Given the description of an element on the screen output the (x, y) to click on. 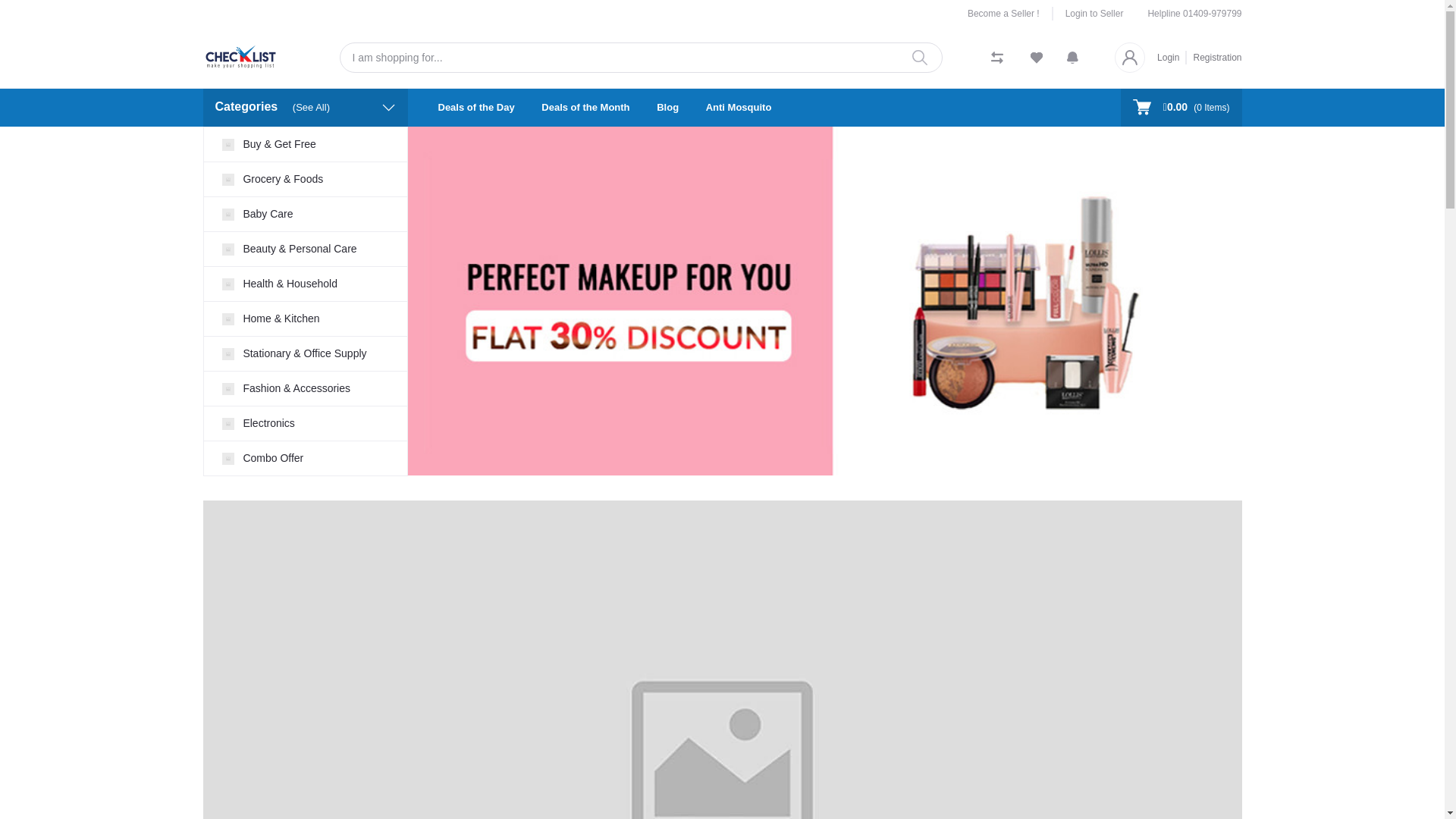
Electronics Element type: text (304, 423)
Deals of the Month Element type: text (585, 107)
Become a Seller ! Element type: text (1010, 13)
Fashion & Accessories Element type: text (304, 388)
Registration Element type: text (1213, 56)
Deals of the Day Element type: text (476, 107)
Grocery & Foods Element type: text (304, 179)
Blog Element type: text (667, 107)
Anti Mosquito Element type: text (738, 107)
Baby Care Element type: text (304, 214)
Login Element type: text (1171, 56)
(See All) Element type: text (310, 106)
Health & Household Element type: text (304, 283)
Beauty & Personal Care Element type: text (304, 249)
Buy & Get Free Element type: text (304, 144)
Home & Kitchen Element type: text (304, 318)
Login to Seller Element type: text (1088, 13)
Stationary & Office Supply Element type: text (304, 353)
Helpline 01409-979799 Element type: text (1194, 13)
Combo Offer Element type: text (304, 458)
